Given the description of an element on the screen output the (x, y) to click on. 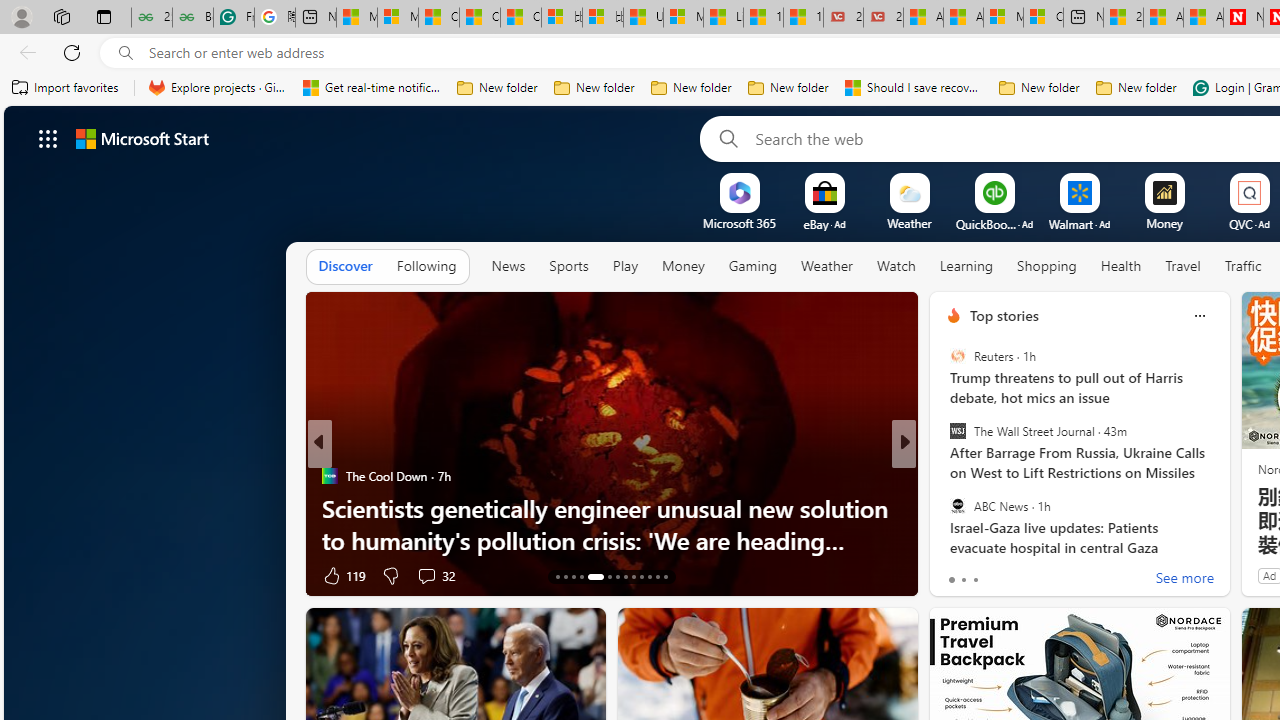
View comments 15 Comment (1042, 575)
AutomationID: tab-18 (609, 576)
The Cool Down (329, 475)
20 Ways to Boost Your Protein Intake at Every Meal (1123, 17)
Reuters (957, 356)
